Given the description of an element on the screen output the (x, y) to click on. 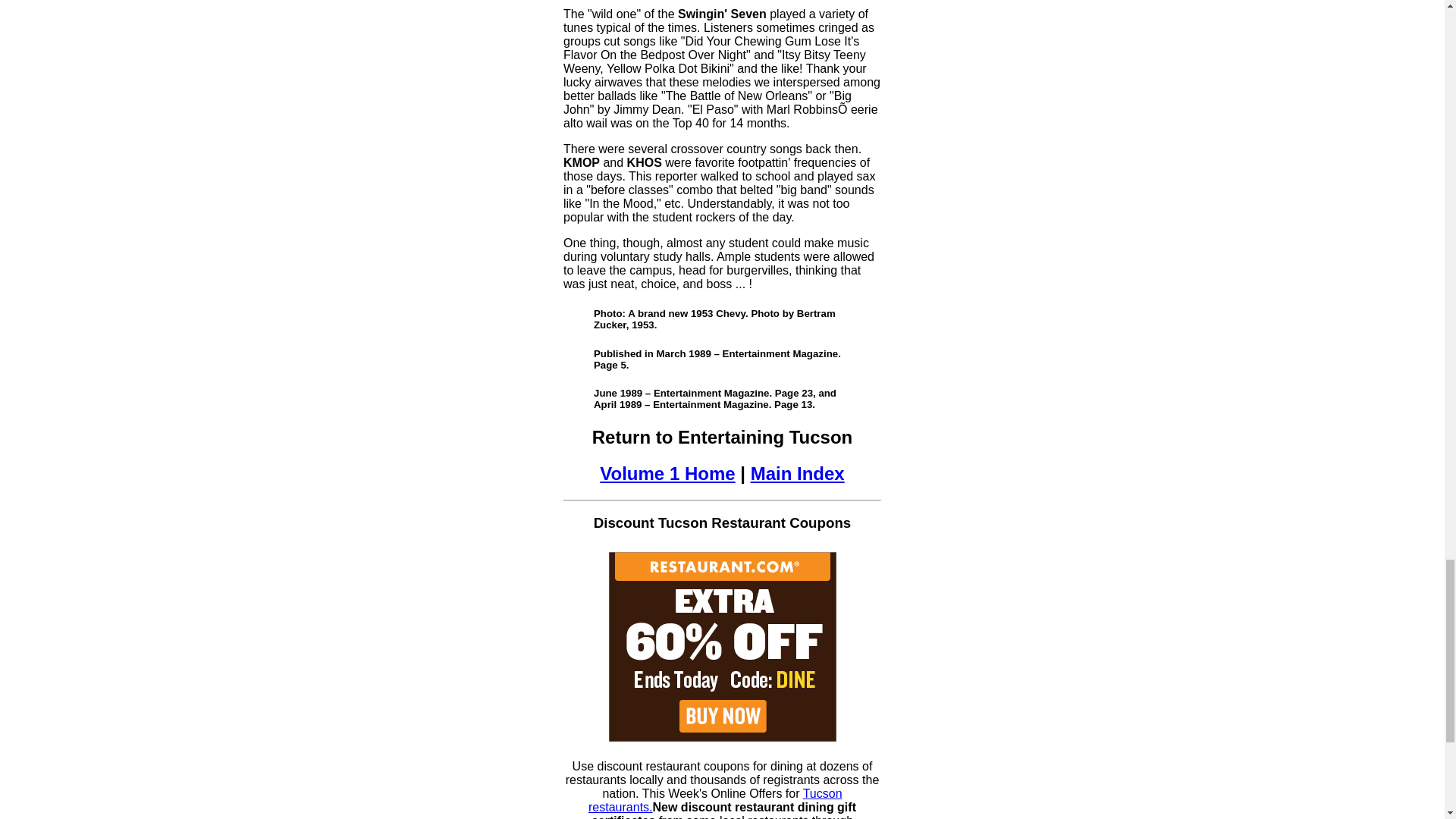
Main Index (797, 473)
Volume 1 Home (667, 473)
Tucson restaurants. (715, 800)
